Given the description of an element on the screen output the (x, y) to click on. 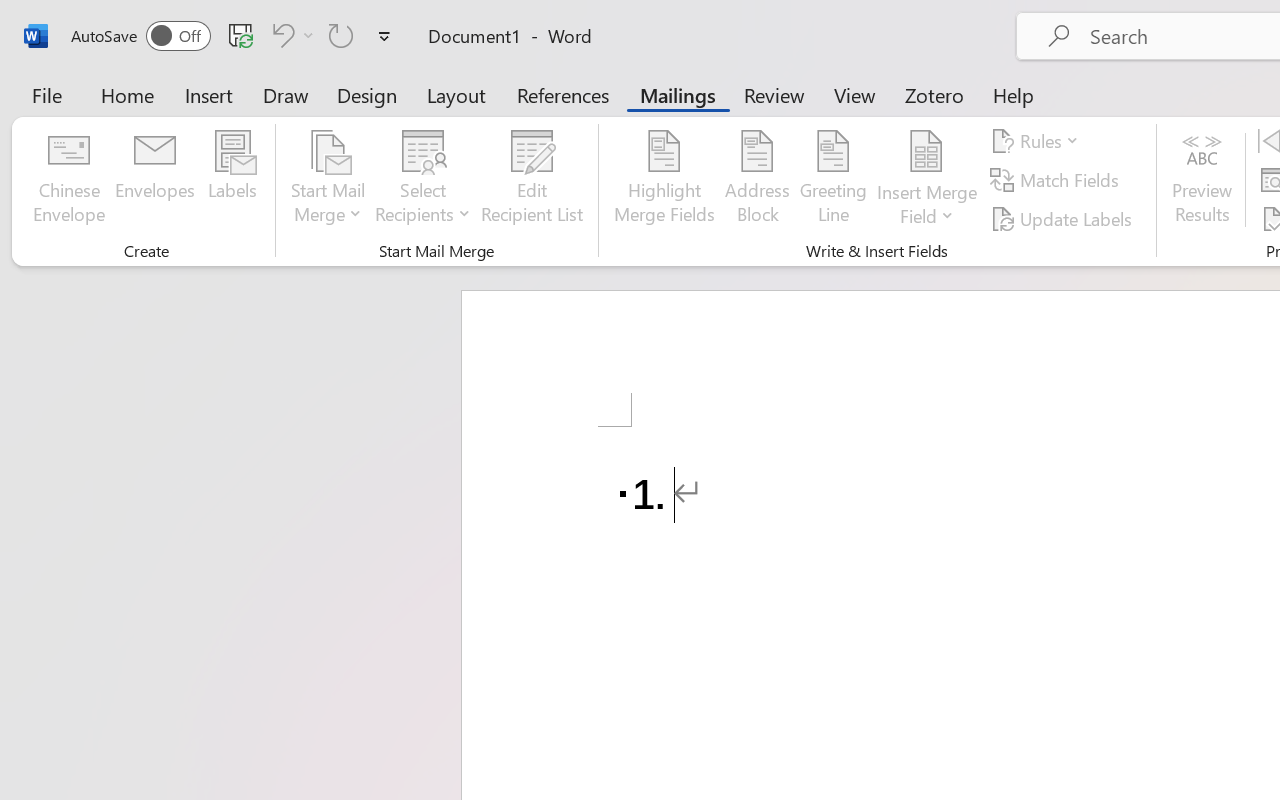
Envelopes... (155, 179)
Labels... (232, 179)
Start Mail Merge (328, 179)
Chinese Envelope... (68, 179)
Undo Number Default (280, 35)
Rules (1037, 141)
